Given the description of an element on the screen output the (x, y) to click on. 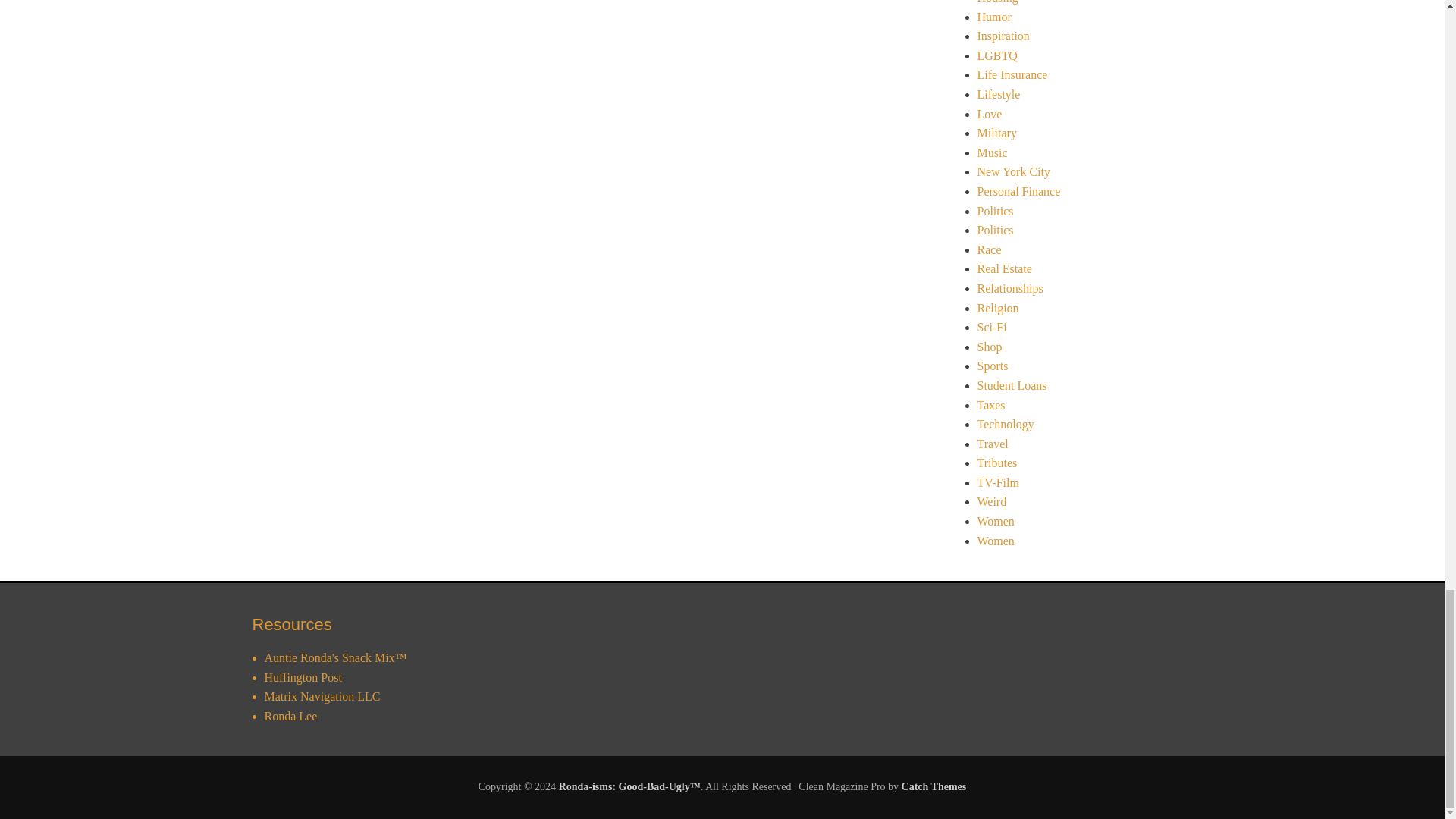
First Generation College Success (321, 696)
Delicious snack (334, 657)
Ronda Lee, Huffington Post (301, 676)
About Author (290, 716)
